Given the description of an element on the screen output the (x, y) to click on. 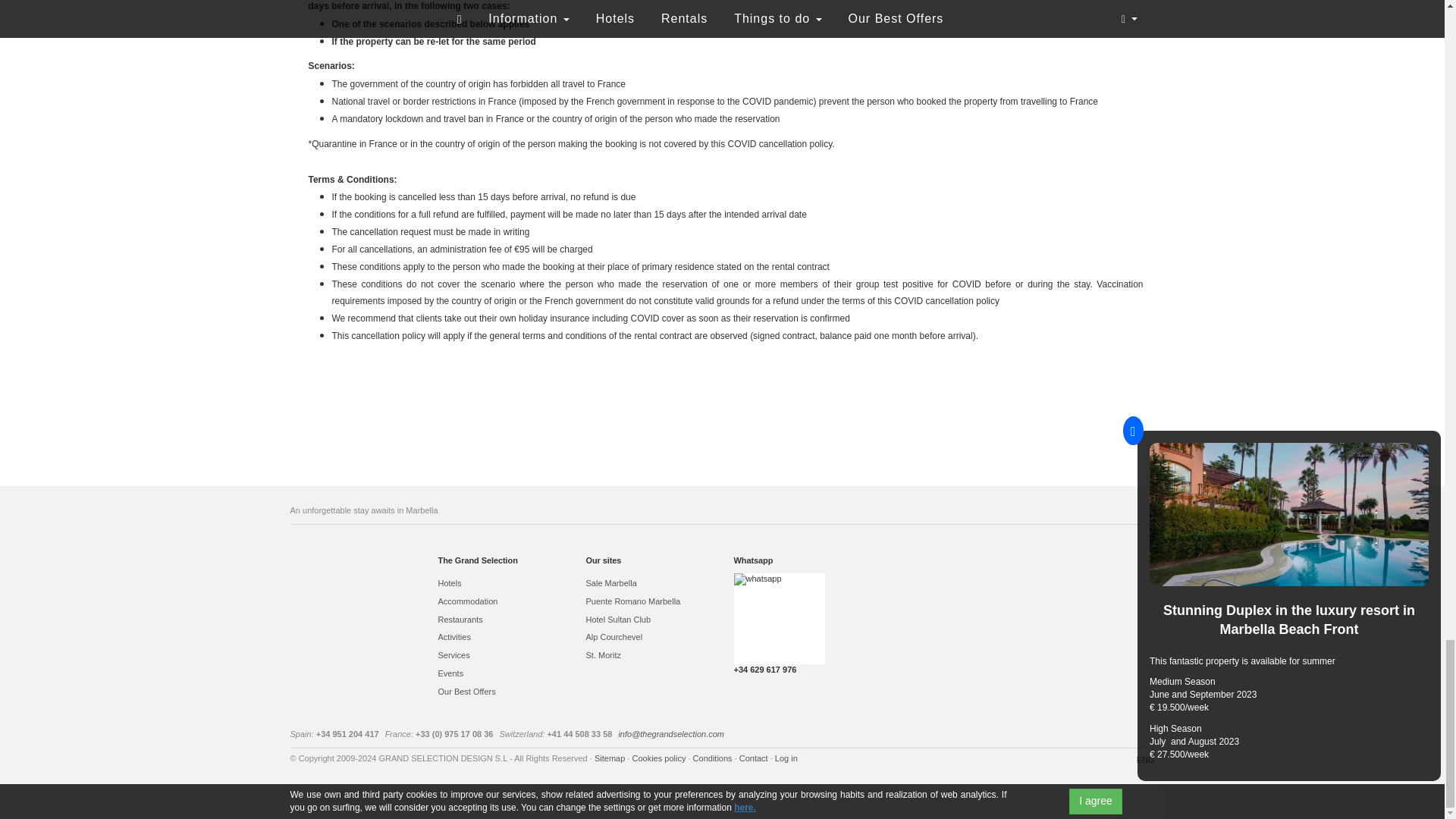
Hotels (500, 583)
Restaurants (500, 619)
Accommodation (500, 601)
